Given the description of an element on the screen output the (x, y) to click on. 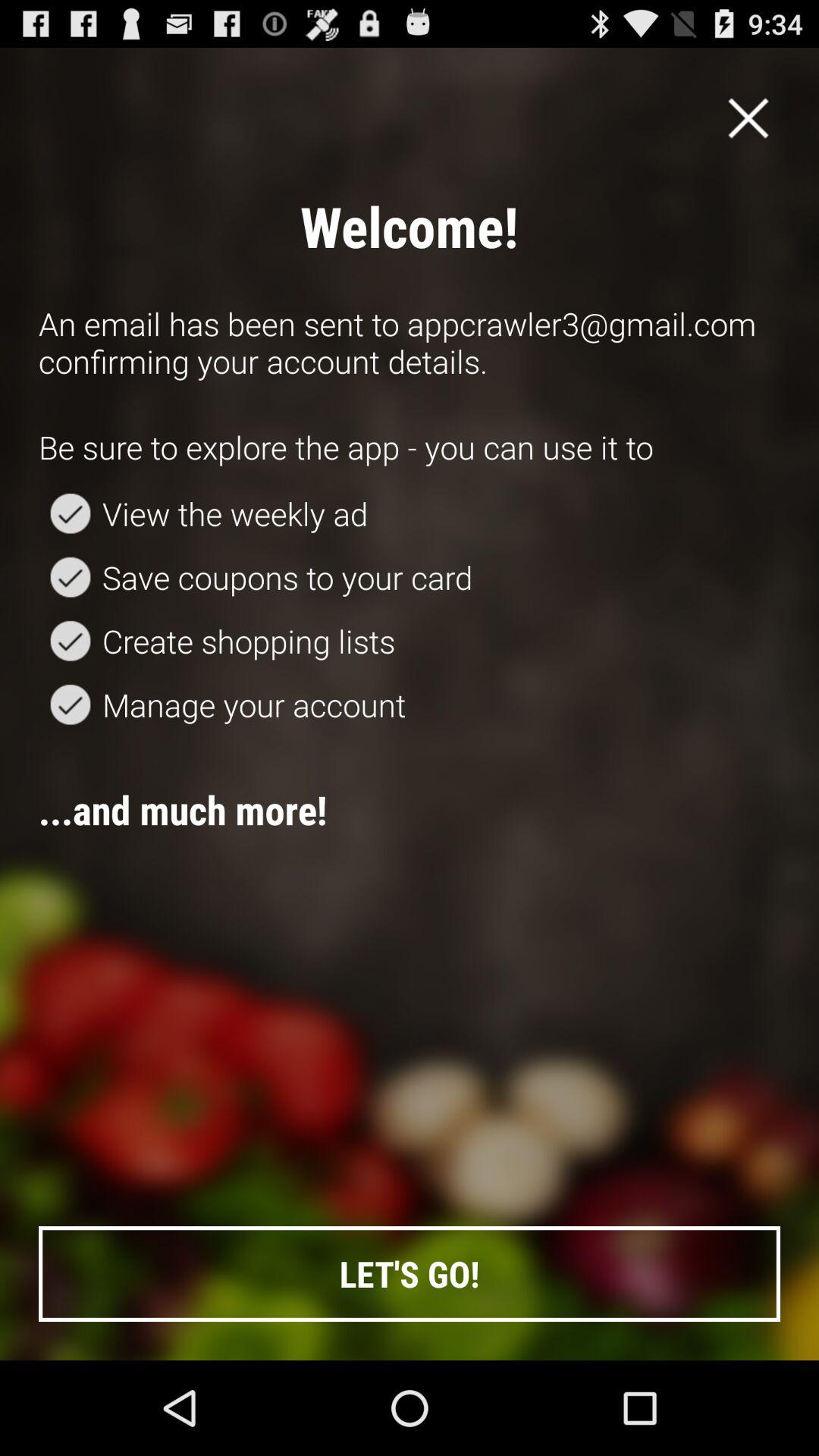
select app above an email has item (748, 118)
